Given the description of an element on the screen output the (x, y) to click on. 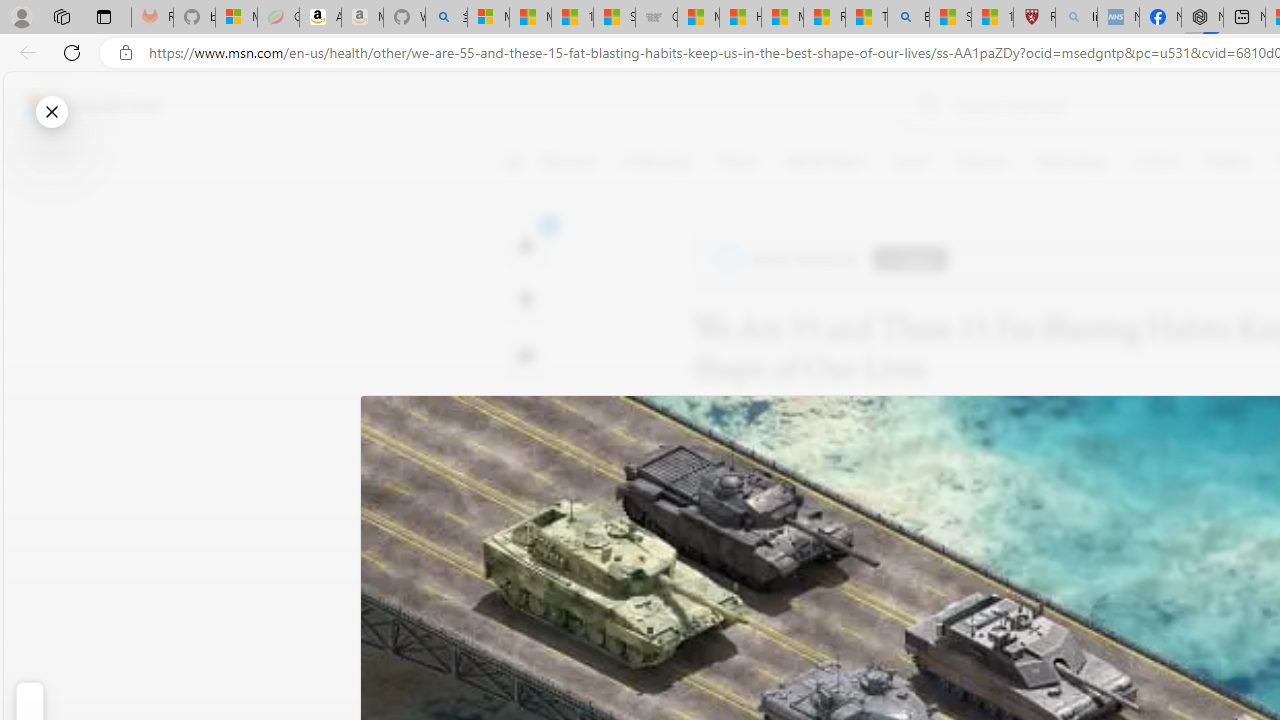
Class: at-item (525, 468)
